Given the description of an element on the screen output the (x, y) to click on. 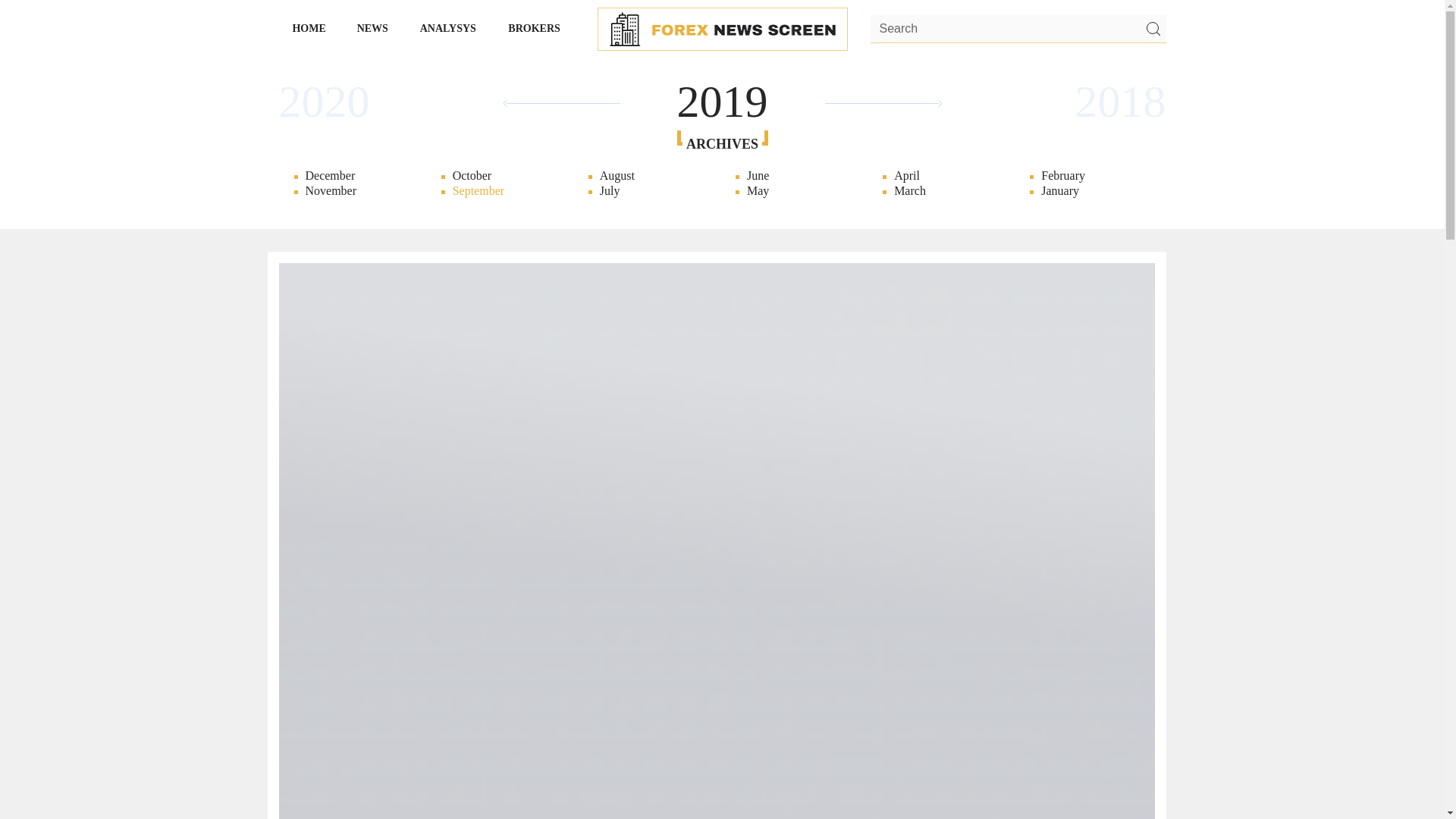
Search (1152, 28)
Search (1018, 29)
October (501, 175)
November (1240, 191)
June (795, 175)
May (795, 191)
January (1089, 191)
ANALYSYS (448, 28)
August (648, 175)
December (1240, 175)
January (202, 191)
HOME (309, 28)
April (942, 175)
December (354, 175)
February (202, 175)
